Given the description of an element on the screen output the (x, y) to click on. 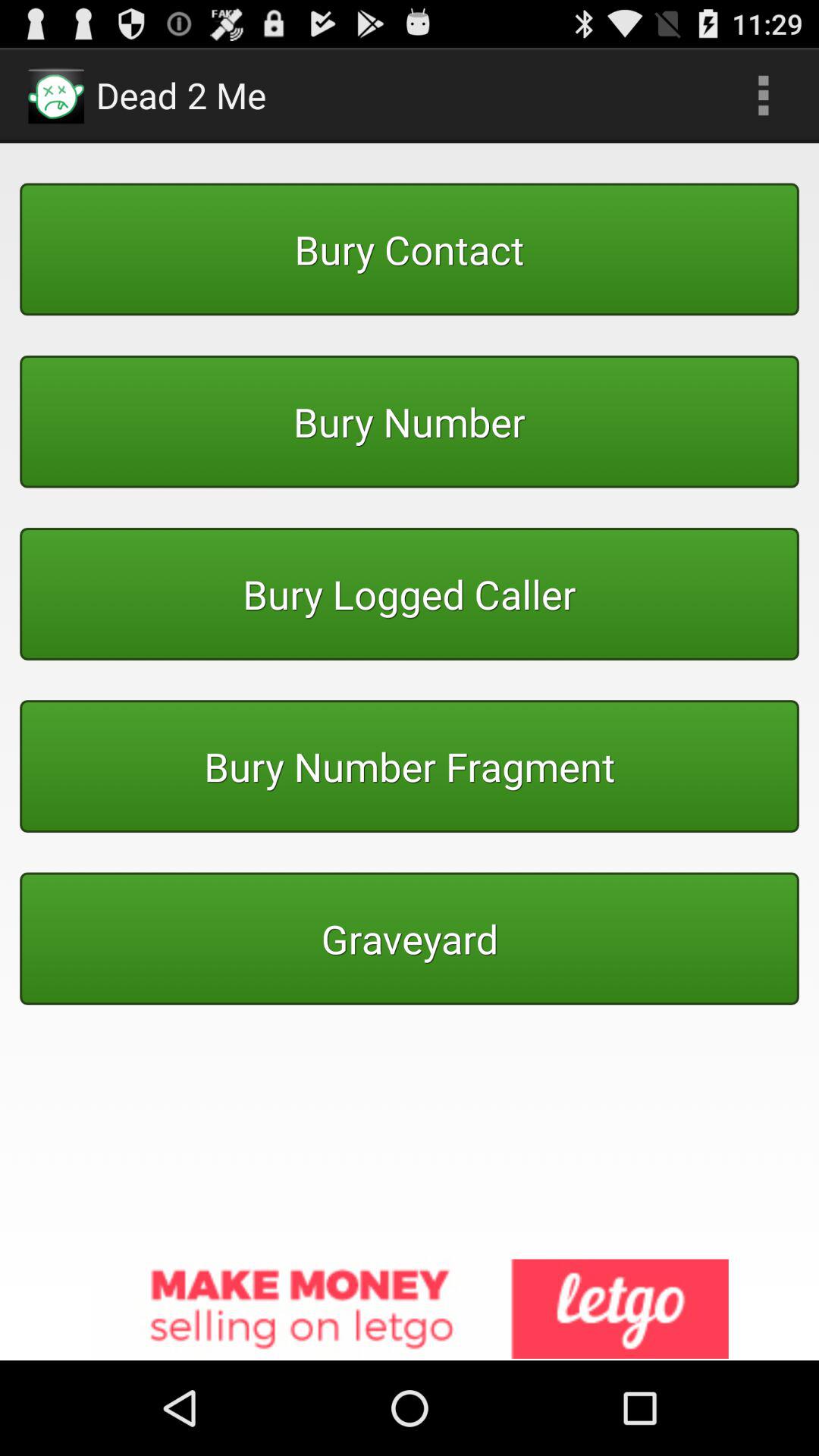
letgo add (409, 1309)
